Given the description of an element on the screen output the (x, y) to click on. 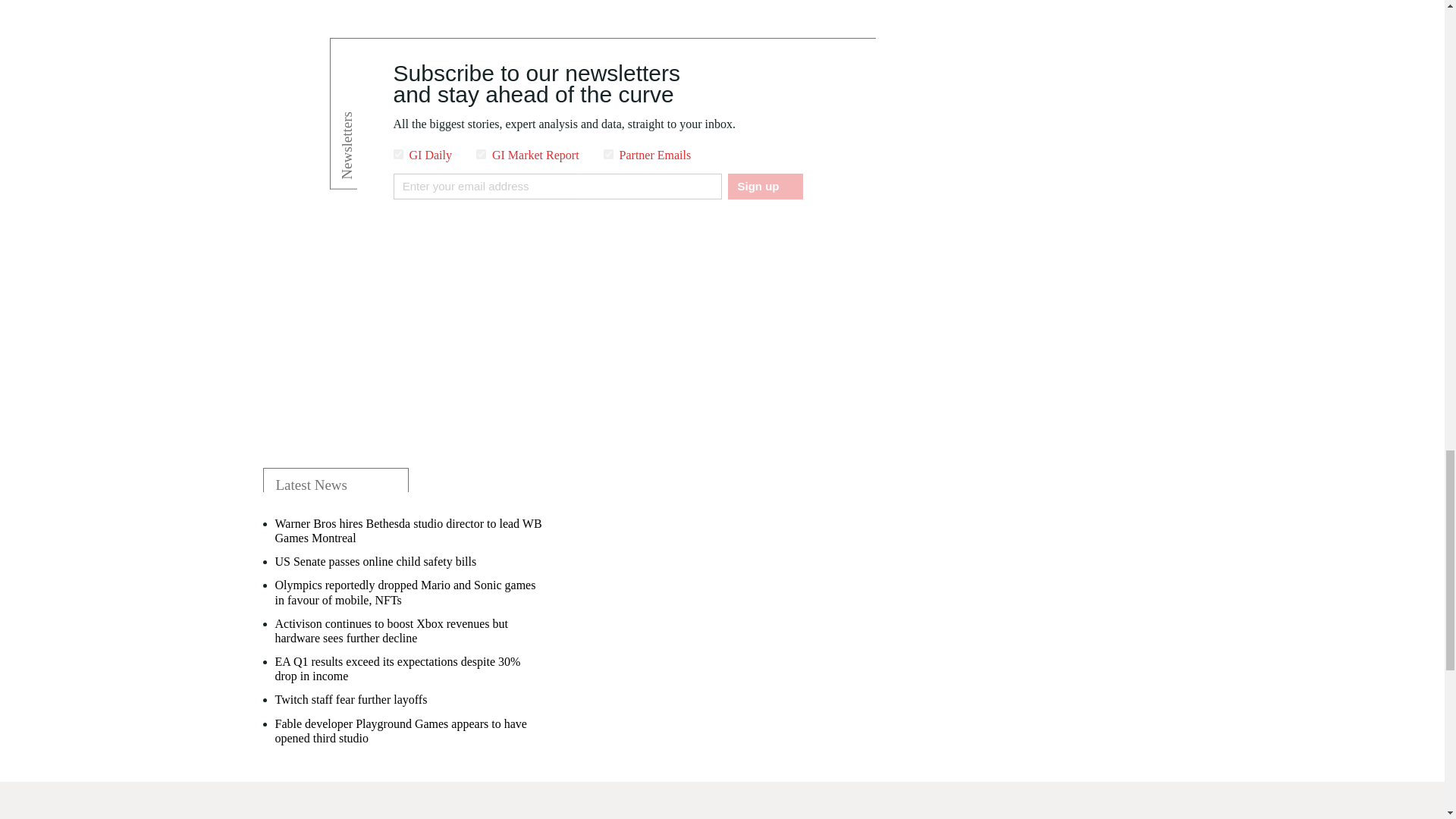
Twitch staff fear further layoffs (350, 699)
on (608, 153)
on (481, 153)
Sign up (765, 186)
US Senate passes online child safety bills (375, 561)
on (398, 153)
